Given the description of an element on the screen output the (x, y) to click on. 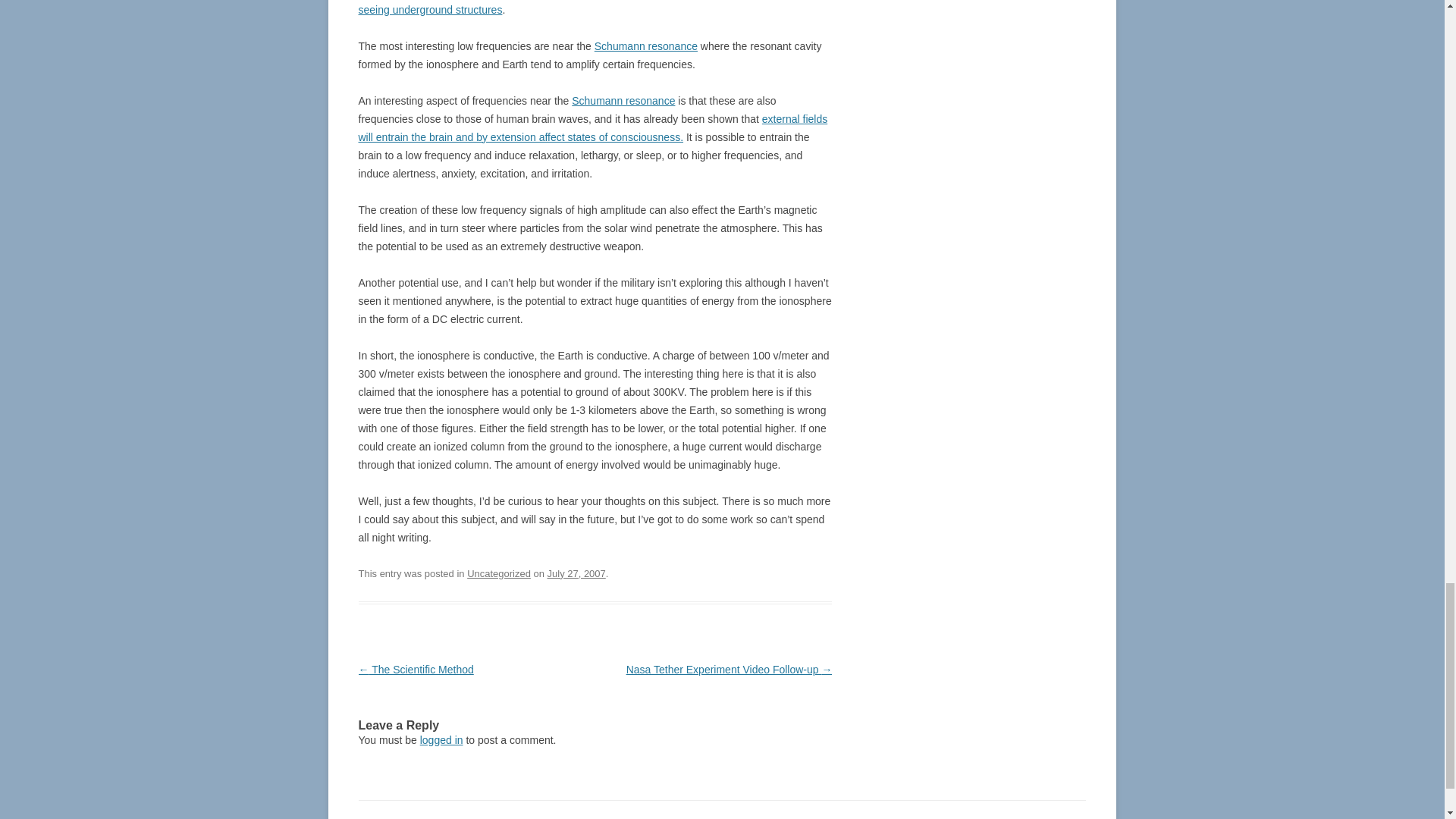
Schumann resonance (645, 46)
method of seeing underground structures (587, 7)
9:57 am (576, 573)
Schumann resonance (623, 101)
